Given the description of an element on the screen output the (x, y) to click on. 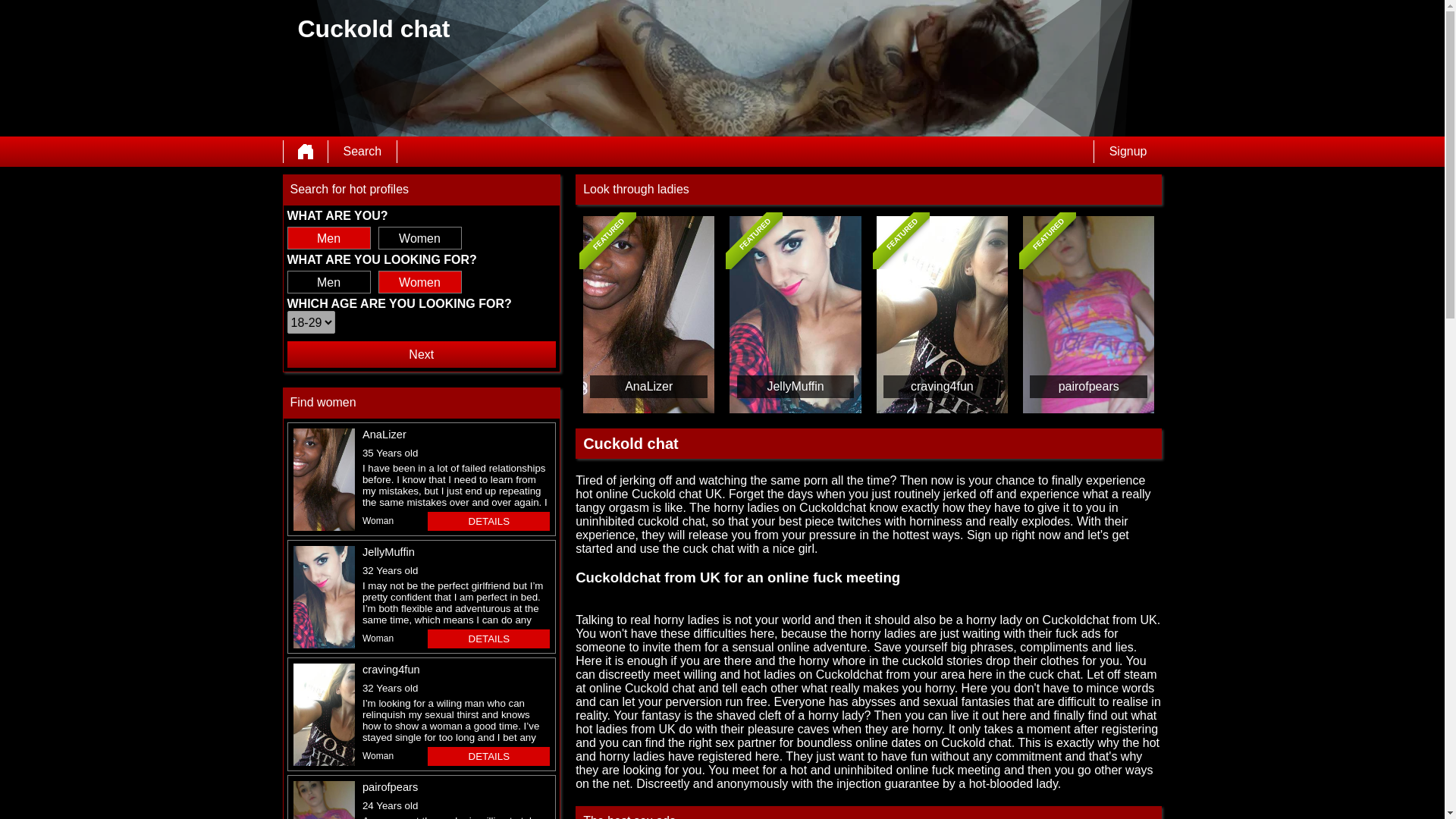
Search (361, 151)
DETAILS (489, 520)
Cuckold chat (305, 151)
Signup (1127, 151)
DETAILS (489, 638)
DETAILS (489, 755)
Search (361, 151)
Signup (1127, 151)
